Given the description of an element on the screen output the (x, y) to click on. 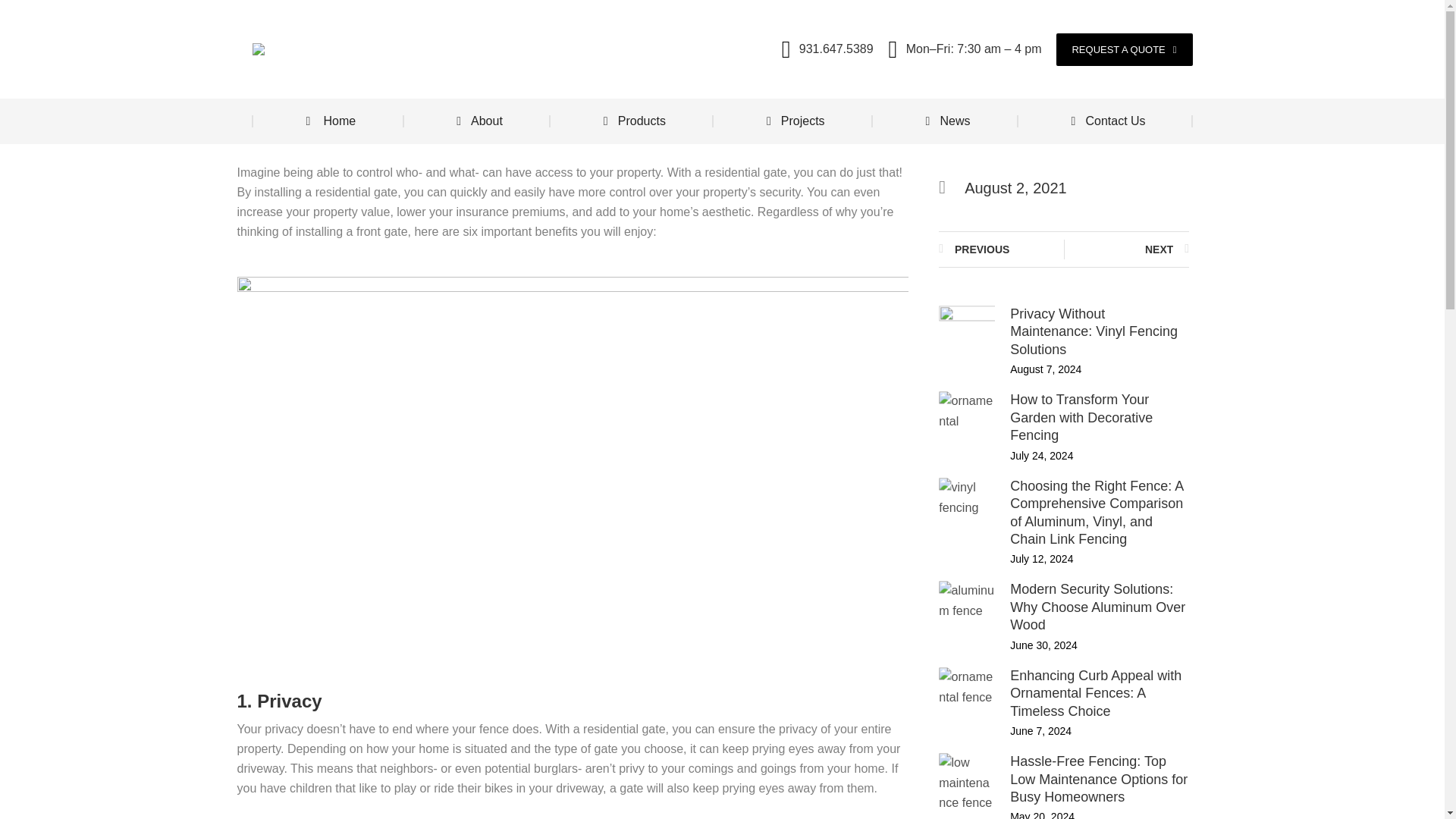
Projects (793, 121)
Contact Us (1104, 121)
REQUEST A QUOTE (1124, 49)
News (945, 121)
About (477, 121)
Home (328, 121)
Products (632, 121)
